Given the description of an element on the screen output the (x, y) to click on. 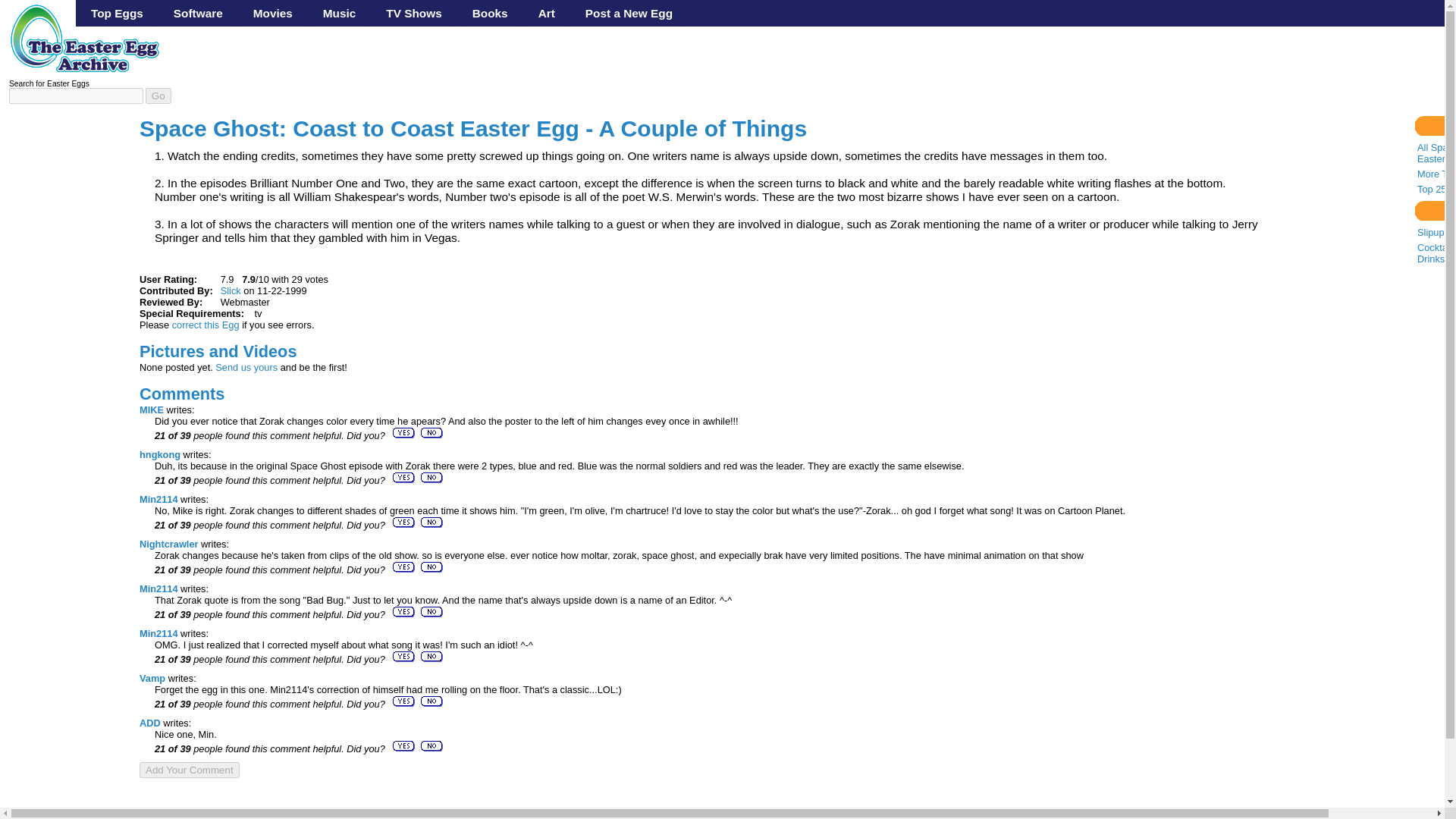
Music (339, 13)
Post a New Egg (628, 13)
Top Eggs (116, 13)
TV Shows (414, 13)
Add Your Comment (189, 770)
Art (546, 13)
Books (489, 13)
Movies (272, 13)
Software (198, 13)
Go (158, 95)
